Given the description of an element on the screen output the (x, y) to click on. 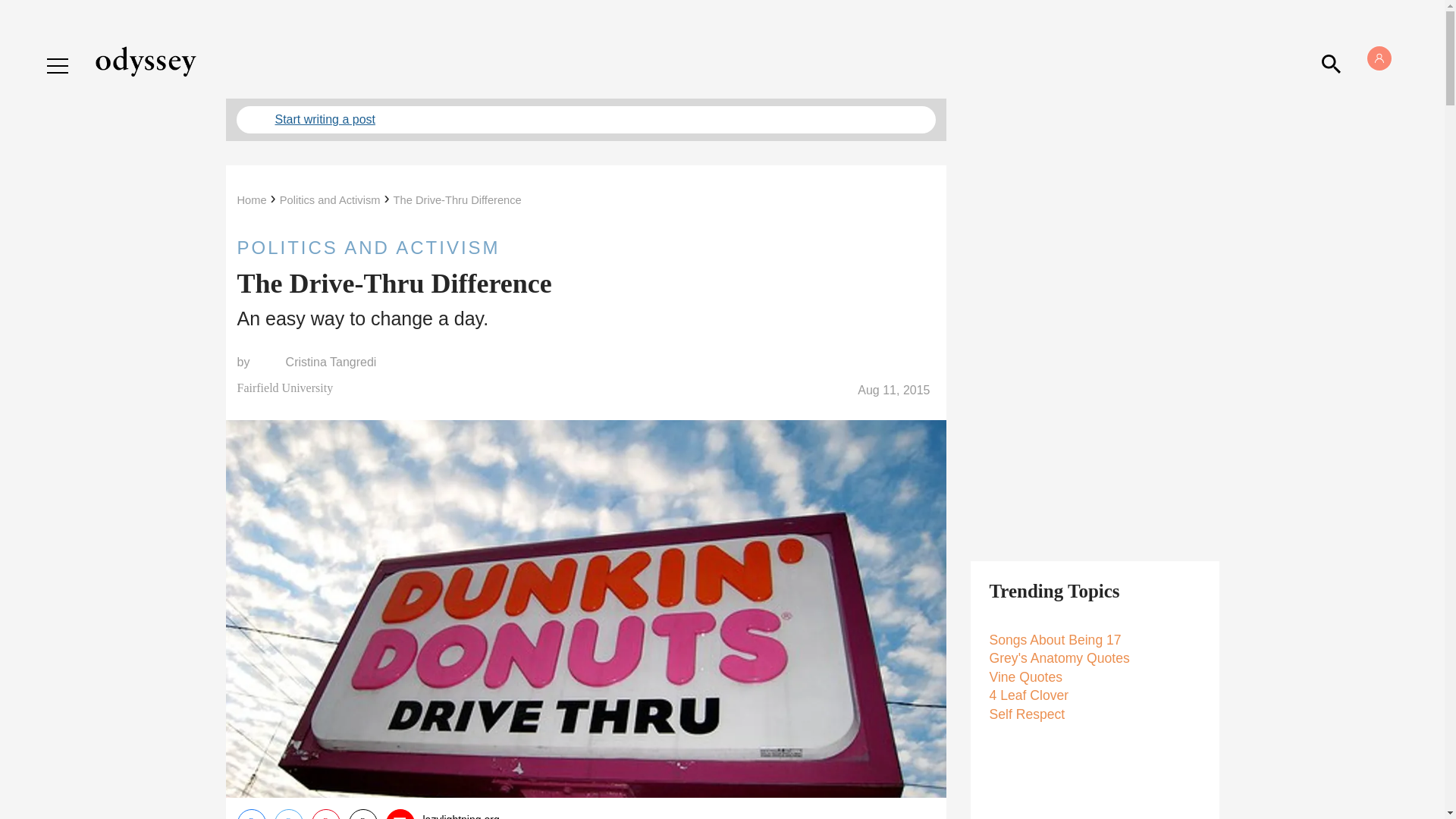
POLITICS AND ACTIVISM (584, 248)
Politics and Activism (329, 200)
Start writing a post (585, 119)
Home (250, 200)
The Drive-Thru Difference (457, 200)
Cristina Tangredi (331, 362)
